Given the description of an element on the screen output the (x, y) to click on. 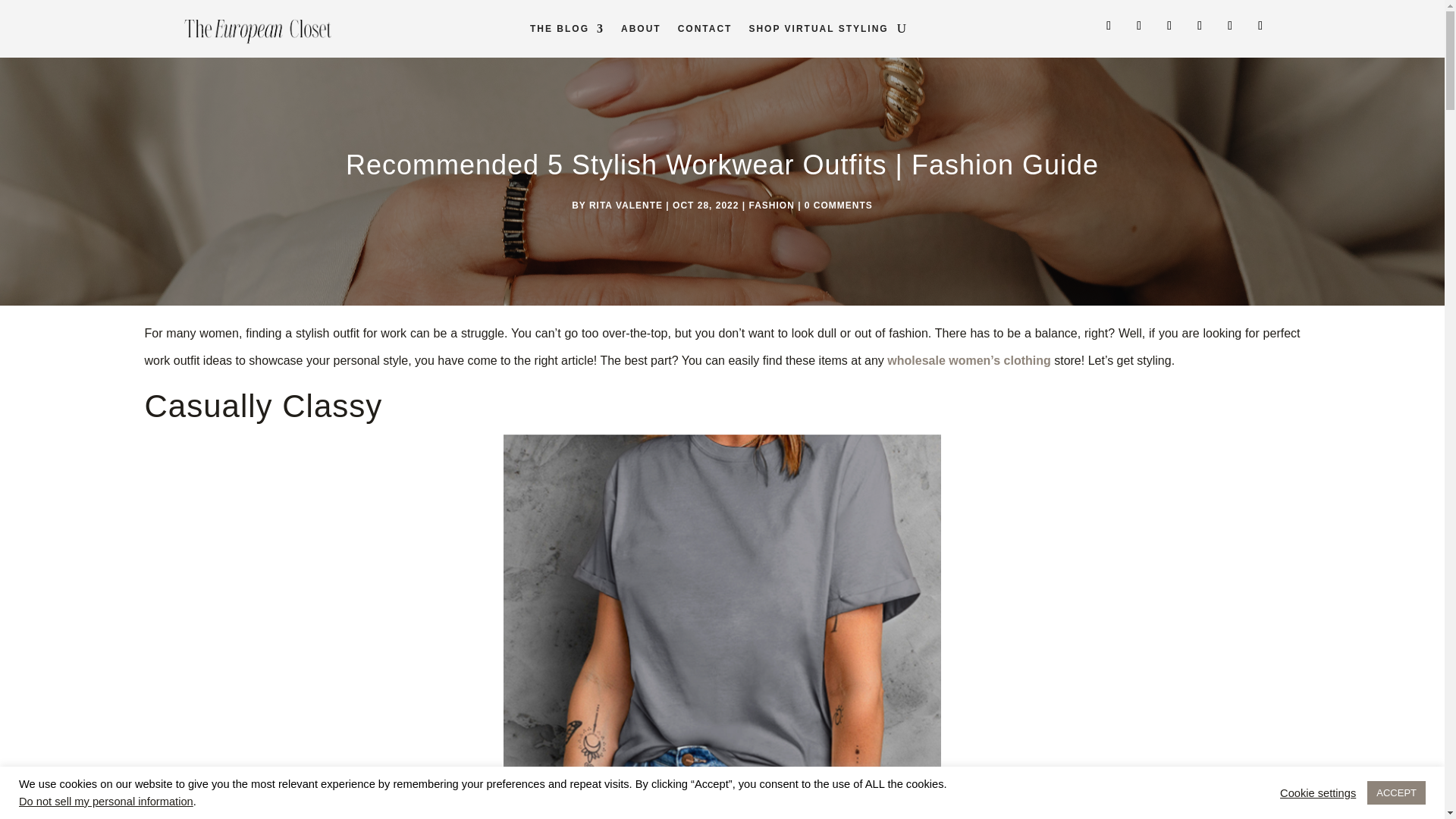
CONTACT (705, 31)
Follow on Facebook (1229, 25)
SHOP VIRTUAL STYLING (818, 31)
Follow on TikTok (1168, 25)
ABOUT (641, 31)
THE BLOG (566, 31)
Follow on Twitter (1199, 25)
Posts by Rita Valente (625, 204)
Follow on Amazon (1259, 25)
Follow on Pinterest (1138, 25)
Follow on Instagram (1108, 25)
